Given the description of an element on the screen output the (x, y) to click on. 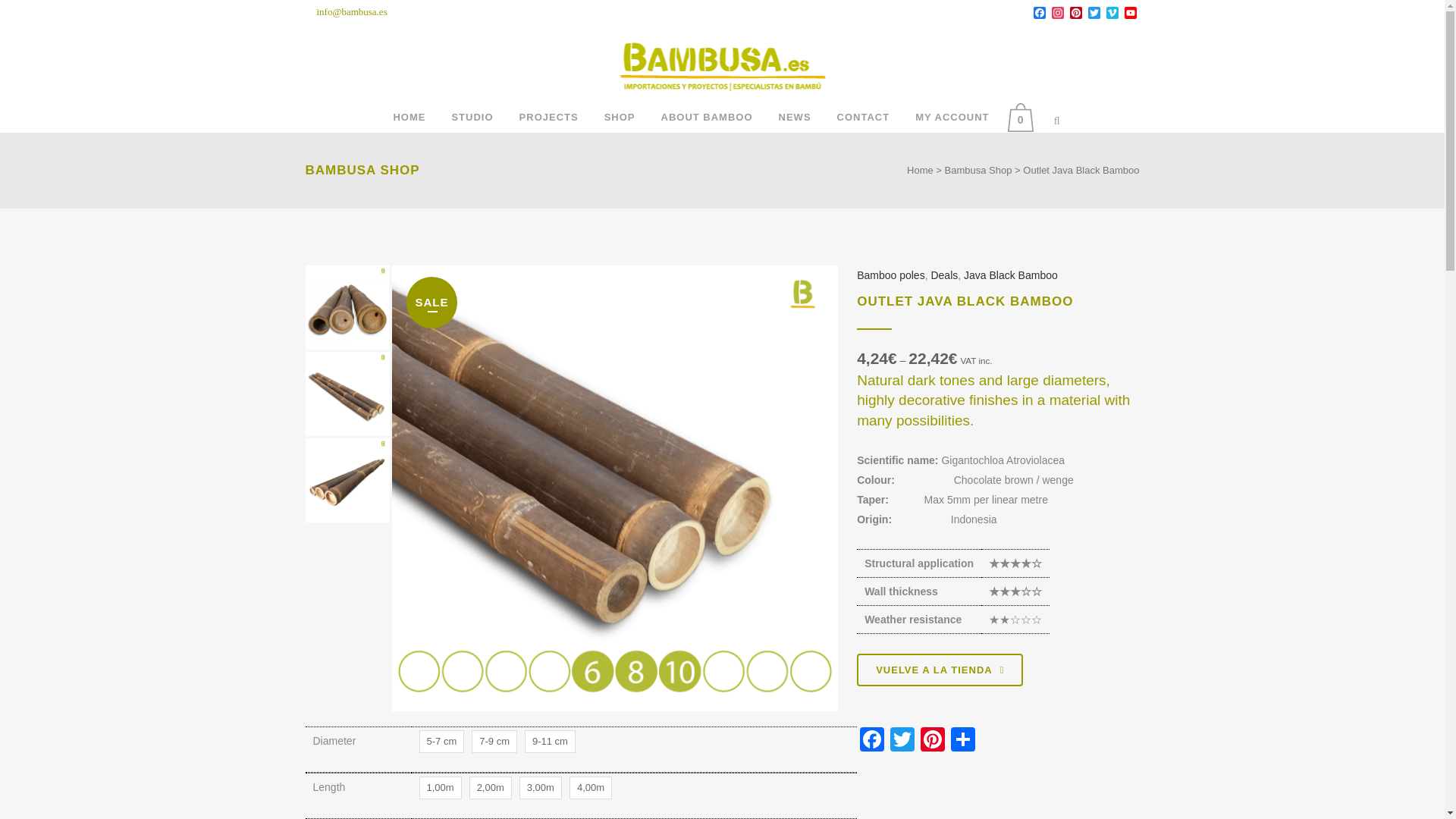
About Bamboo (706, 117)
HOME (409, 117)
Vimeo (1111, 13)
Facebook (1038, 13)
NEWS (794, 117)
MY ACCOUNT (951, 117)
CONTACT (863, 117)
Vimeo (1111, 13)
Twitter (1093, 13)
Home (409, 117)
Facebook (1038, 13)
About us (471, 117)
YouTube Channel (1129, 13)
Blog (794, 117)
PROJECTS (548, 117)
